Given the description of an element on the screen output the (x, y) to click on. 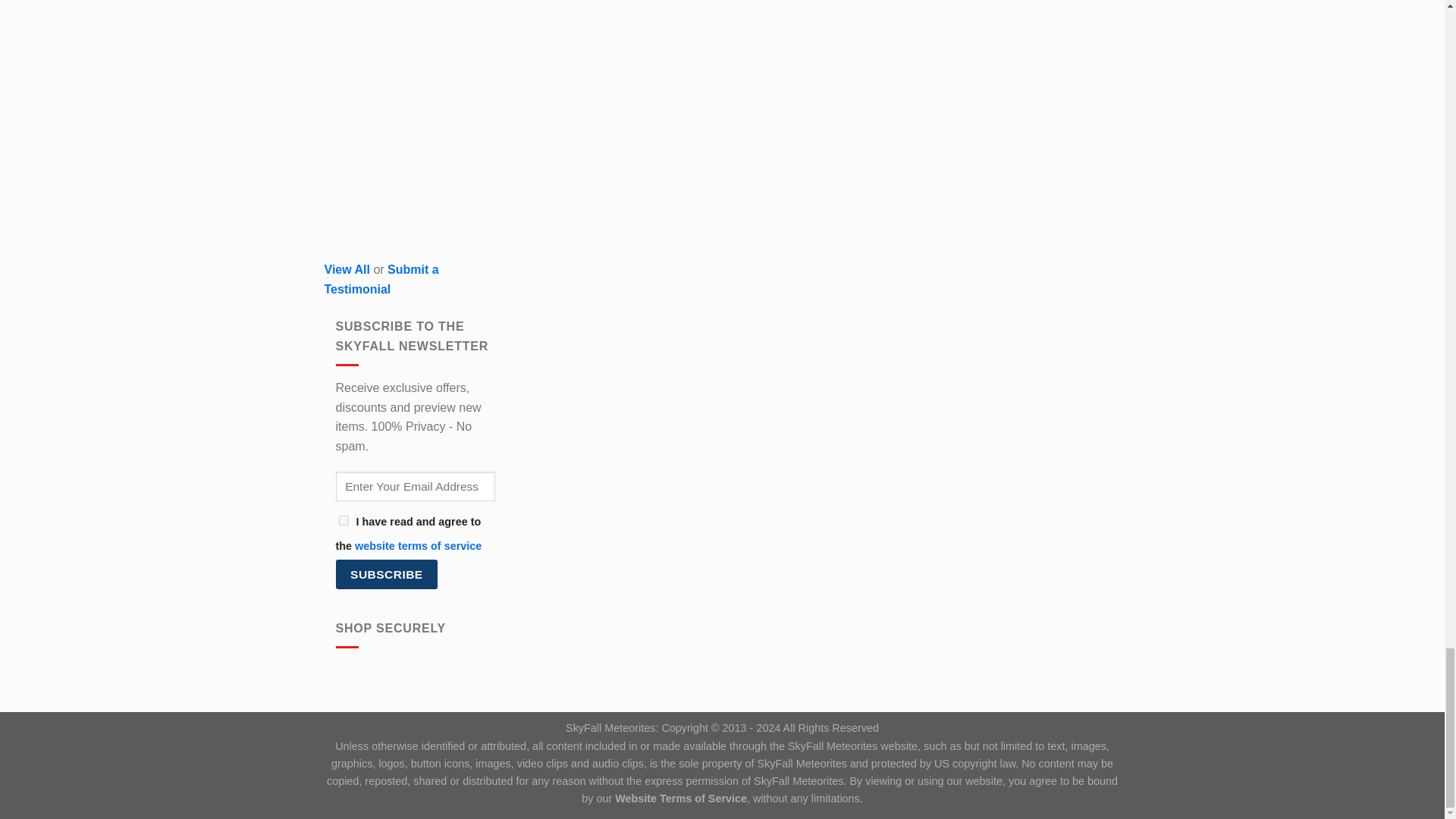
Subscribe (386, 573)
1 (342, 520)
